Given the description of an element on the screen output the (x, y) to click on. 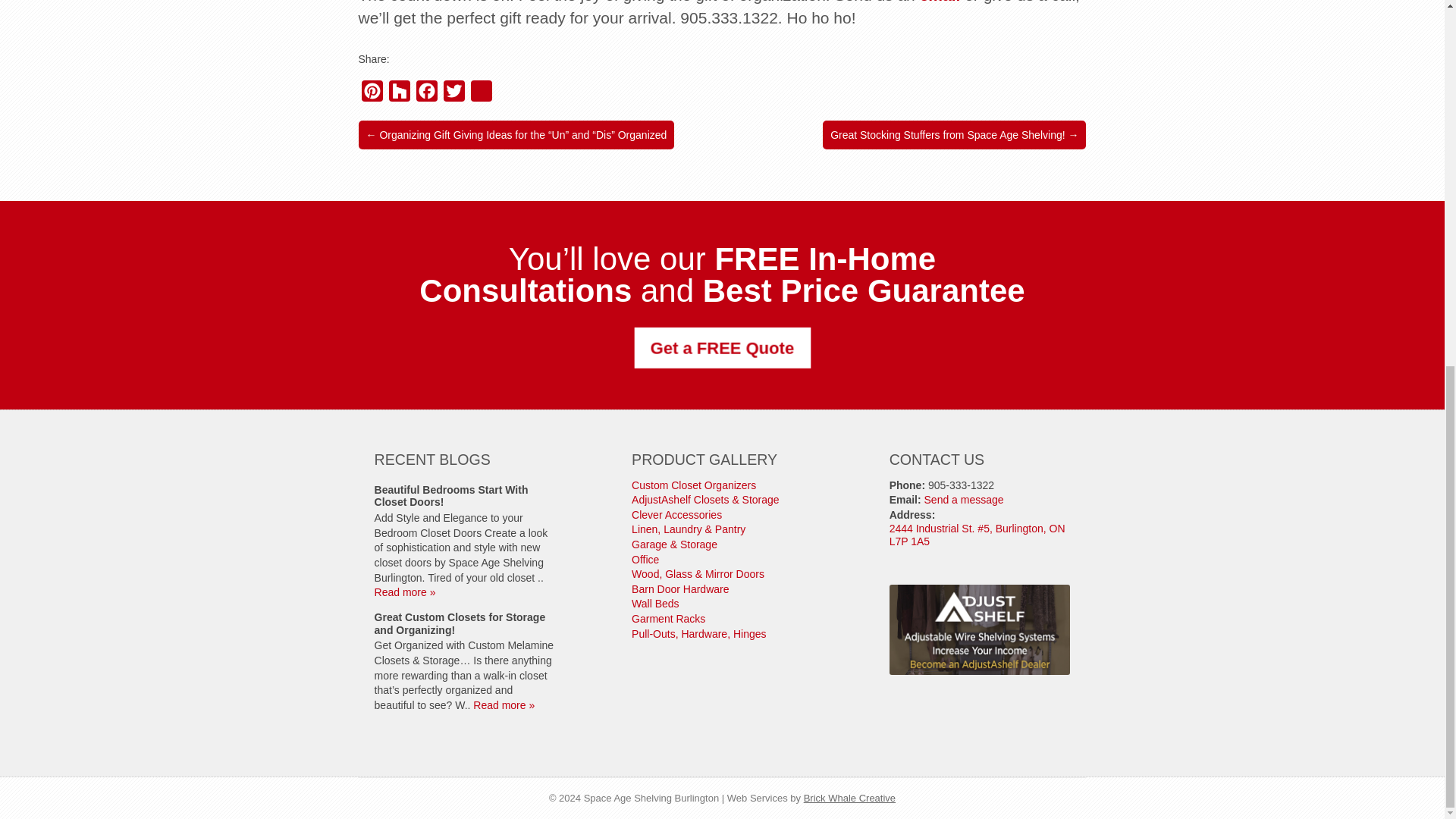
Garment Racks (667, 618)
Barn Door Hardware (680, 589)
Custom Closet Organizers (693, 485)
Pinterest (371, 94)
Facebook (425, 94)
Houzz (398, 94)
Office (645, 559)
Get a FREE Quote (718, 346)
Send a message (964, 499)
Wall Beds (655, 603)
